Given the description of an element on the screen output the (x, y) to click on. 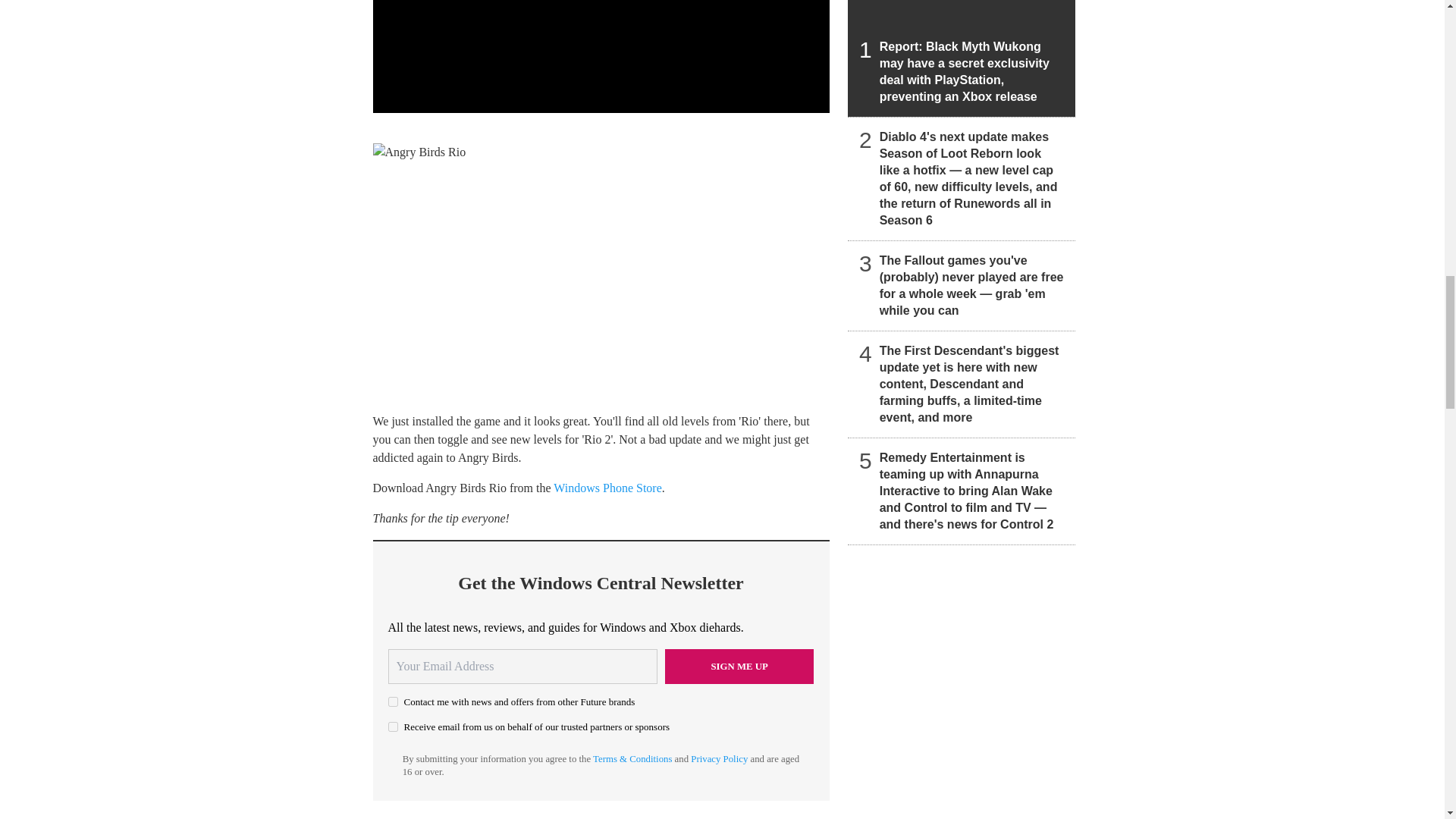
Windows Phone Store (607, 487)
on (392, 701)
Sign me up (739, 666)
on (392, 726)
Privacy Policy (719, 758)
Sign me up (739, 666)
